Given the description of an element on the screen output the (x, y) to click on. 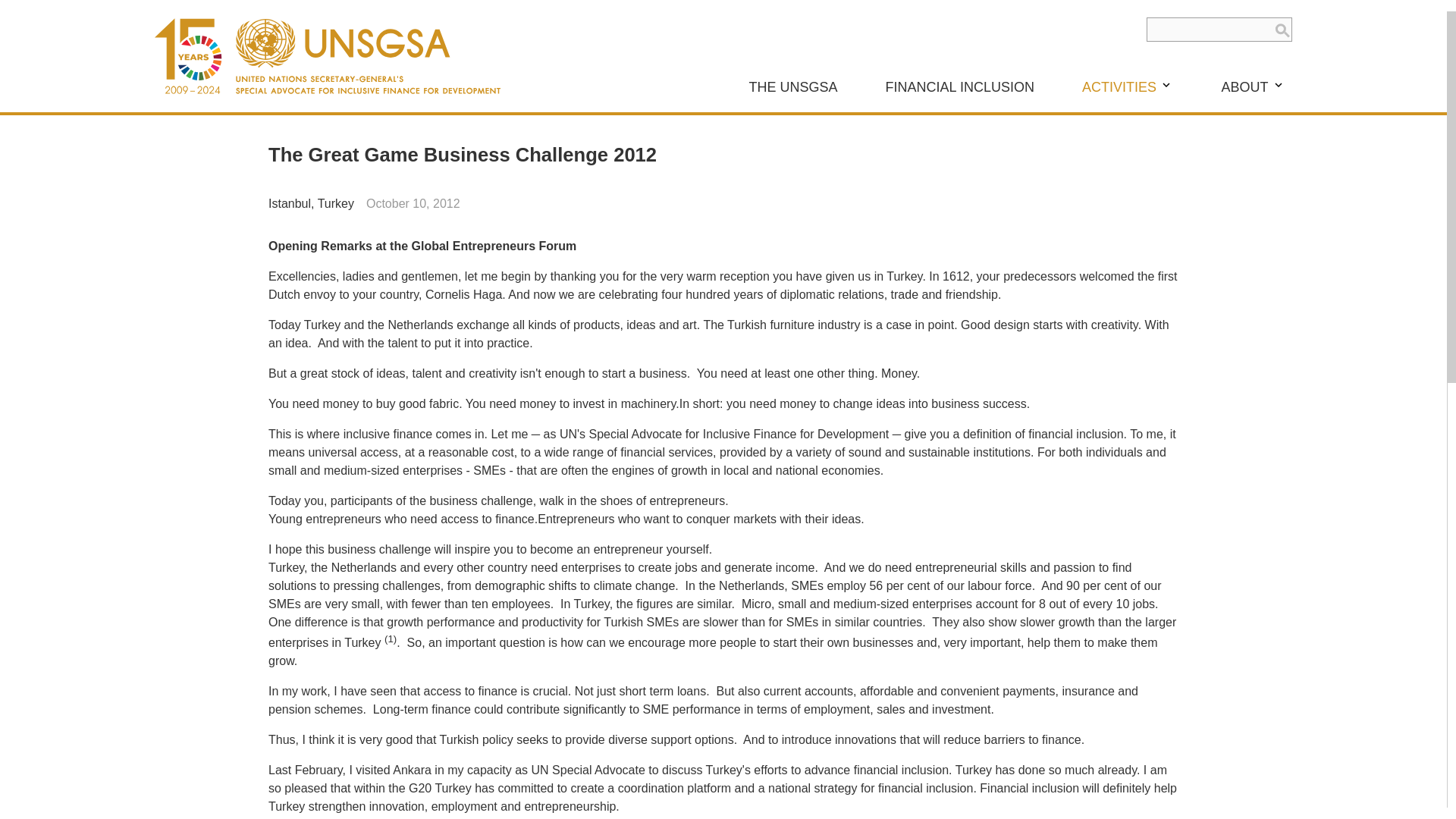
Home (327, 56)
Share to Linkedin (1165, 203)
THE UNSGSA (793, 86)
Share to X (1140, 203)
FINANCIAL INCLUSION (960, 86)
ACTIVITIES (1127, 86)
ABOUT (1253, 86)
Enter the terms you wish to search for. (1219, 29)
Share to Facebook (1115, 203)
